Given the description of an element on the screen output the (x, y) to click on. 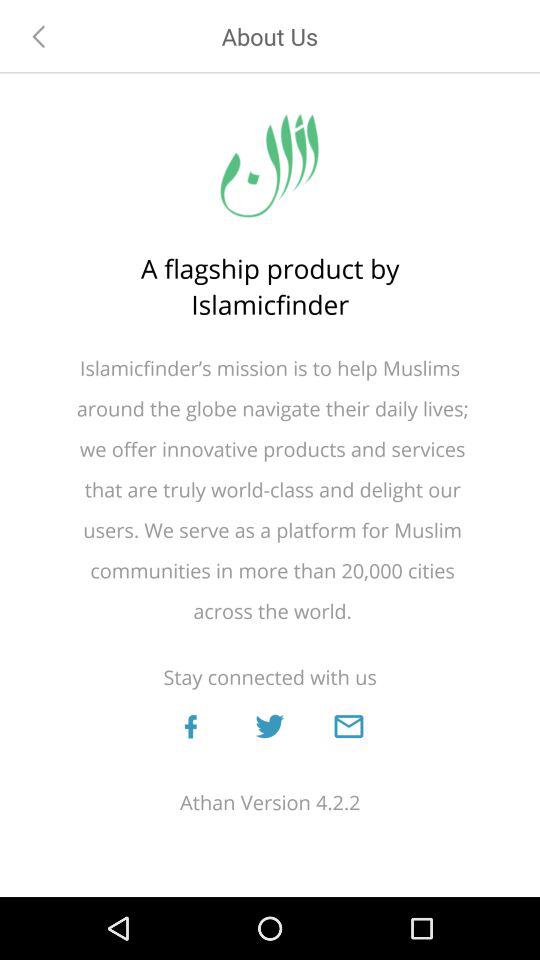
connect on facebook (190, 726)
